Given the description of an element on the screen output the (x, y) to click on. 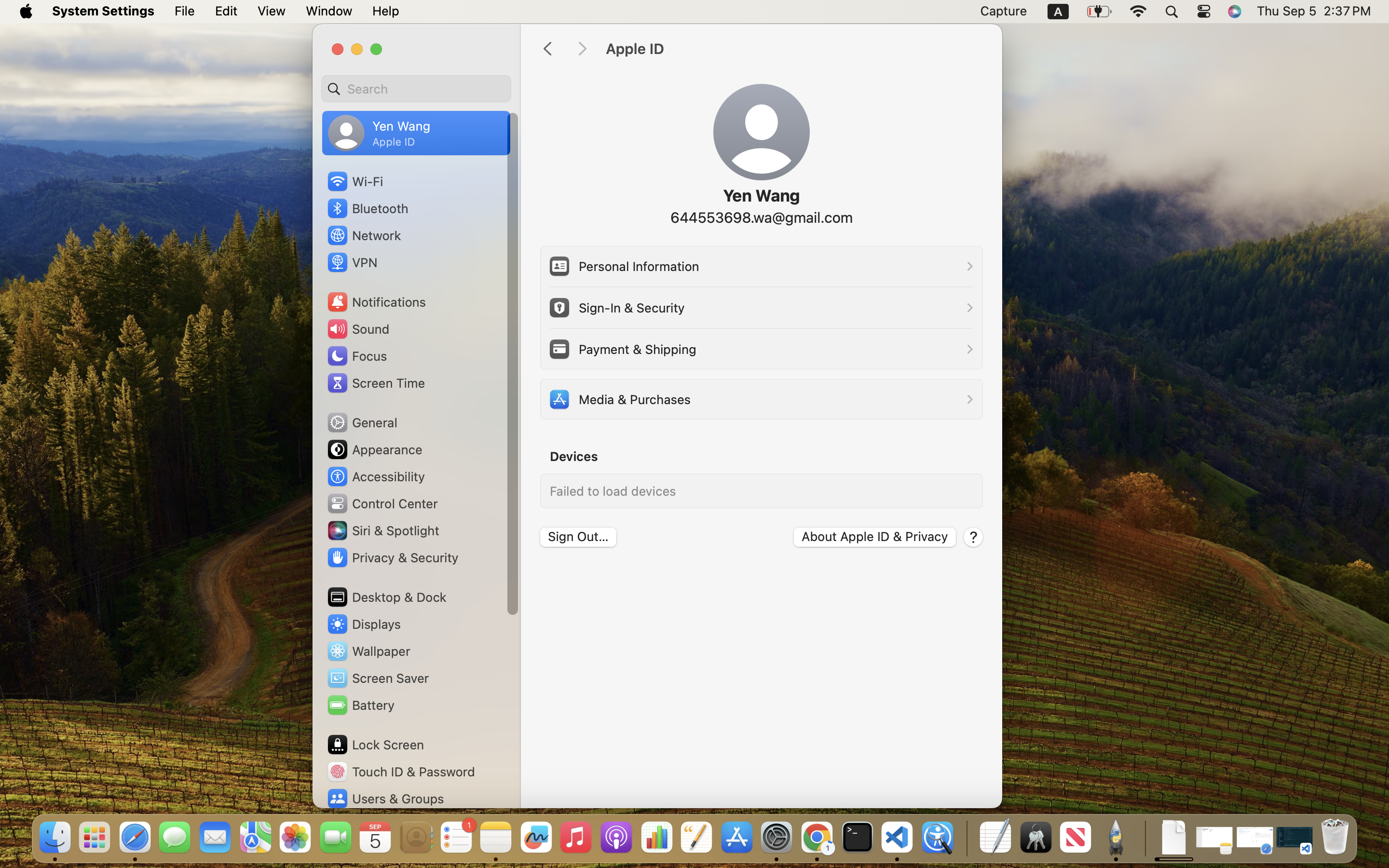
Bluetooth Element type: AXStaticText (367, 207)
General Element type: AXStaticText (361, 422)
Accessibility Element type: AXStaticText (375, 476)
Screen Saver Element type: AXStaticText (377, 677)
0.4285714328289032 Element type: AXDockItem (965, 837)
